Given the description of an element on the screen output the (x, y) to click on. 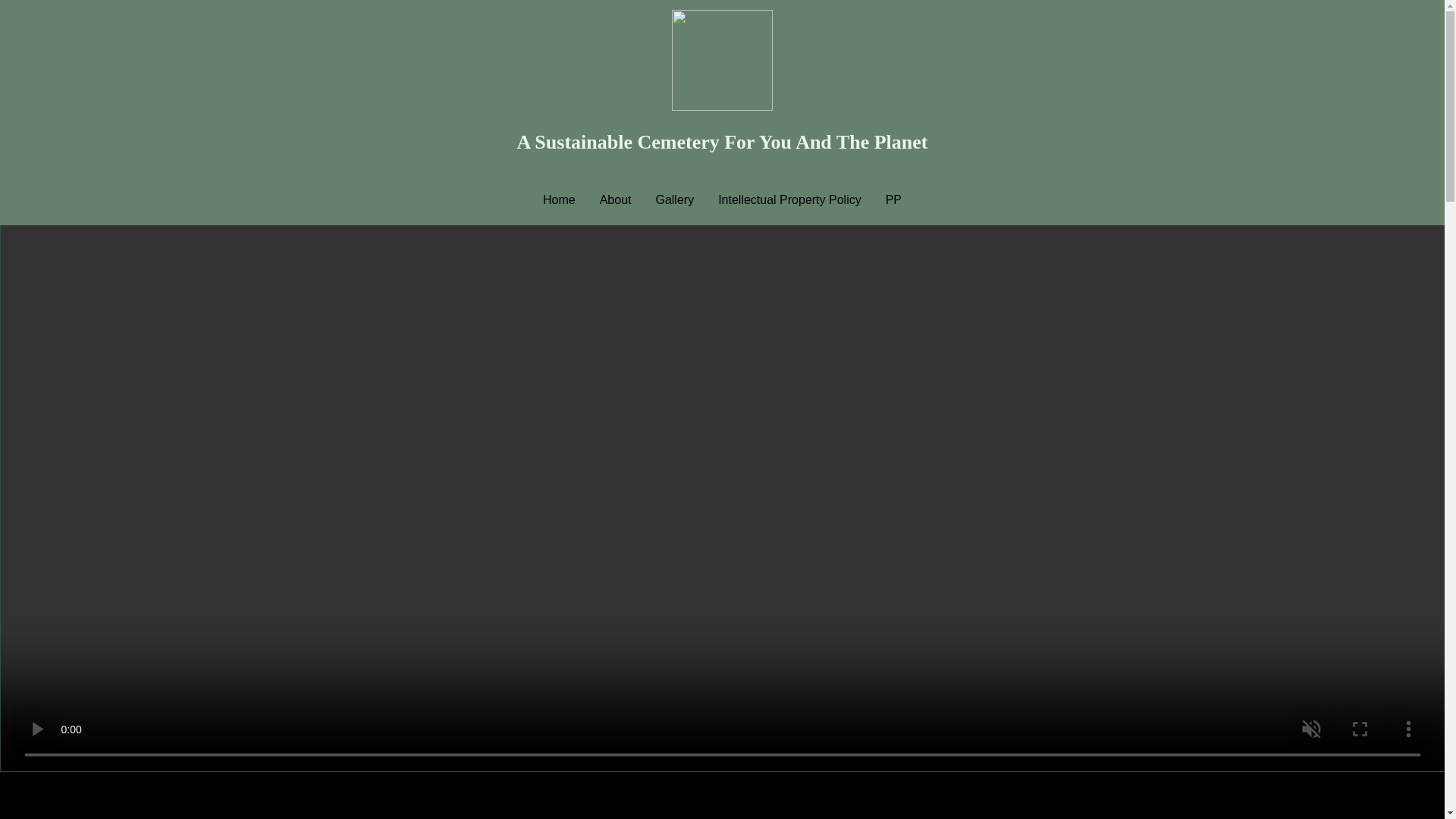
About (615, 199)
Home (559, 199)
Gallery (674, 199)
PP (893, 199)
Intellectual Property Policy (789, 199)
